Given the description of an element on the screen output the (x, y) to click on. 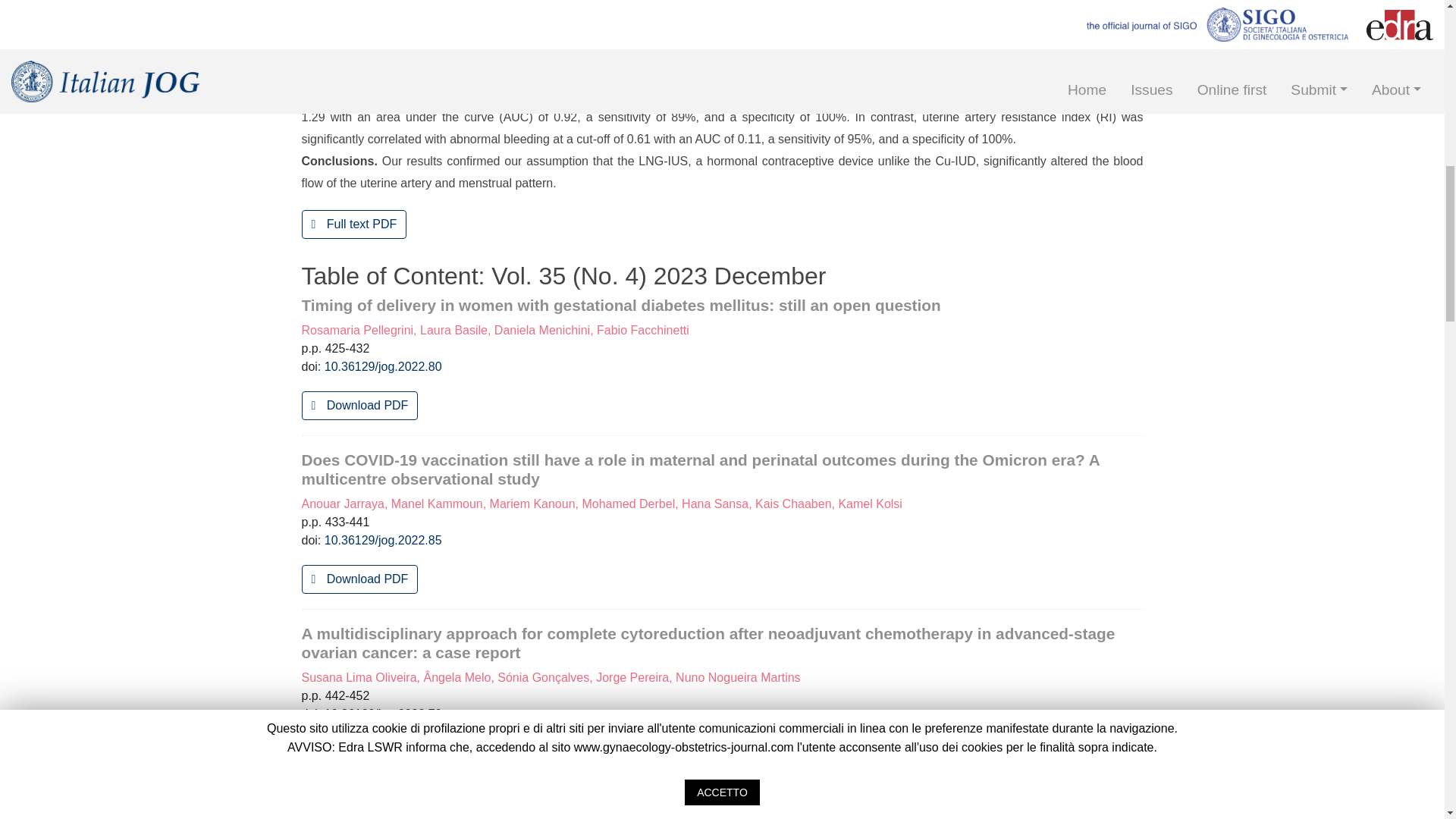
Download PDF (360, 579)
Download PDF (360, 405)
Full text PDF (354, 224)
Download PDF (360, 752)
